Given the description of an element on the screen output the (x, y) to click on. 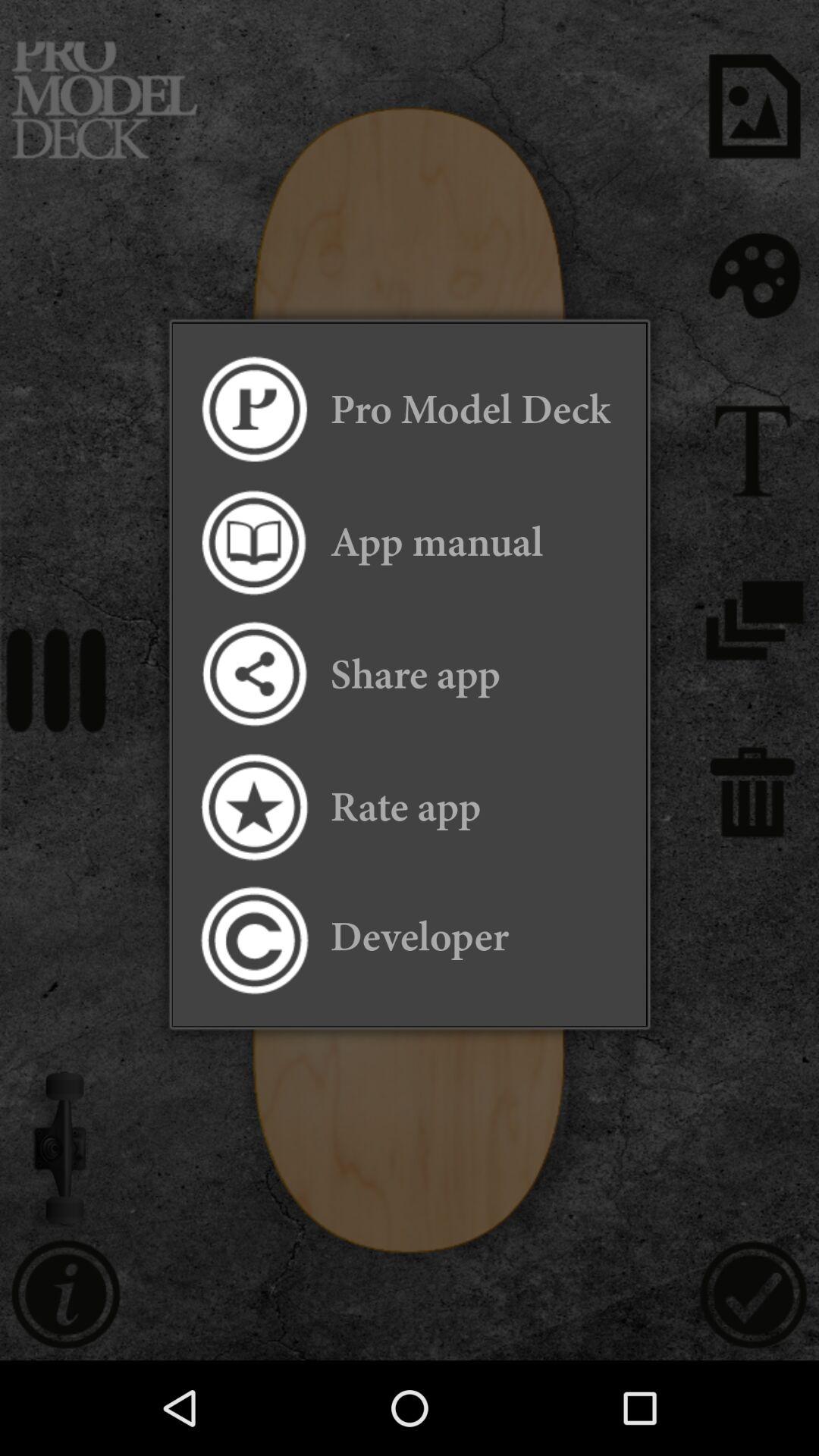
select item next to developer icon (253, 939)
